Given the description of an element on the screen output the (x, y) to click on. 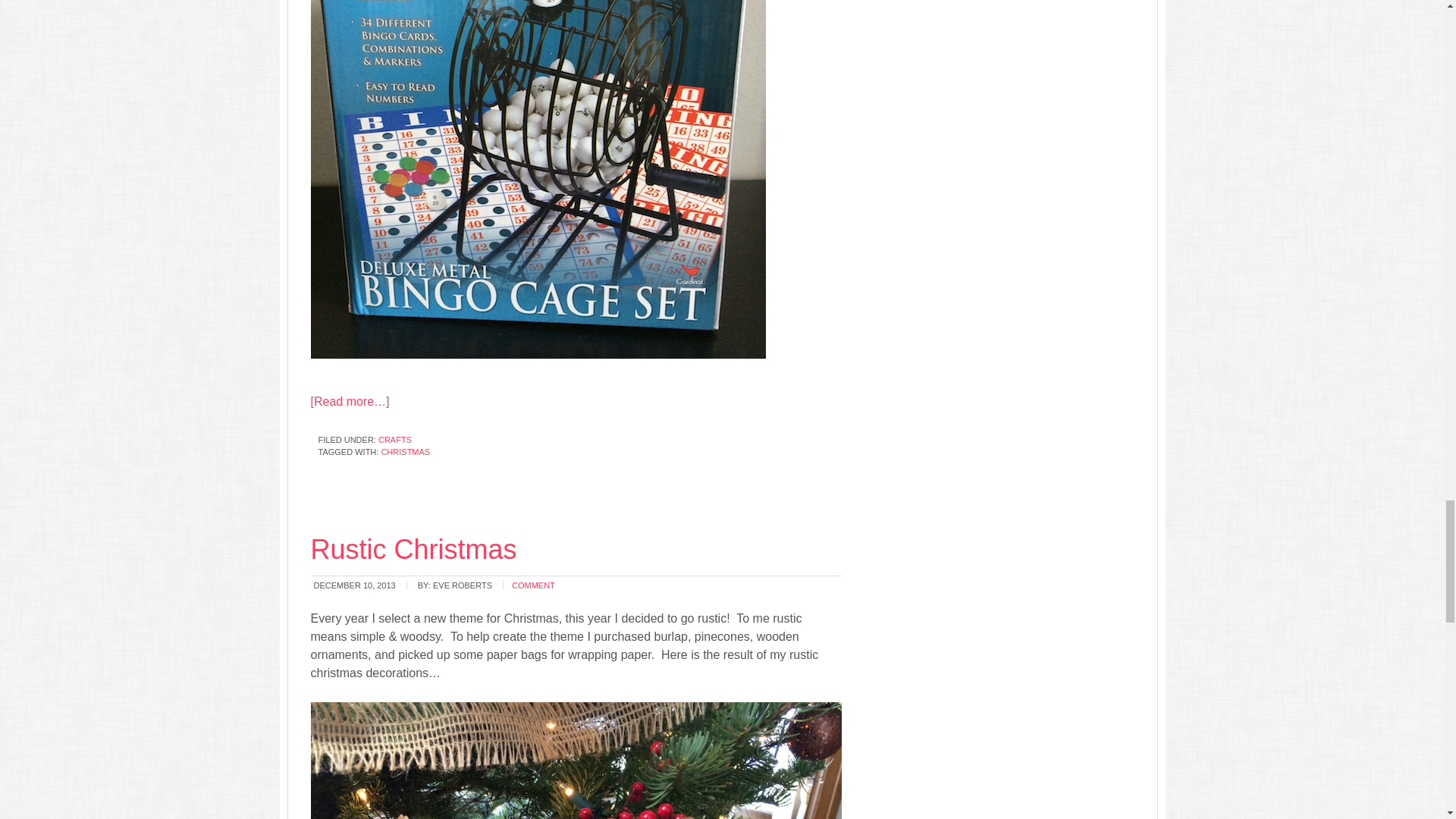
CHRISTMAS (404, 451)
COMMENT (533, 584)
Rustic Christmas (413, 549)
CRAFTS (395, 439)
